Given the description of an element on the screen output the (x, y) to click on. 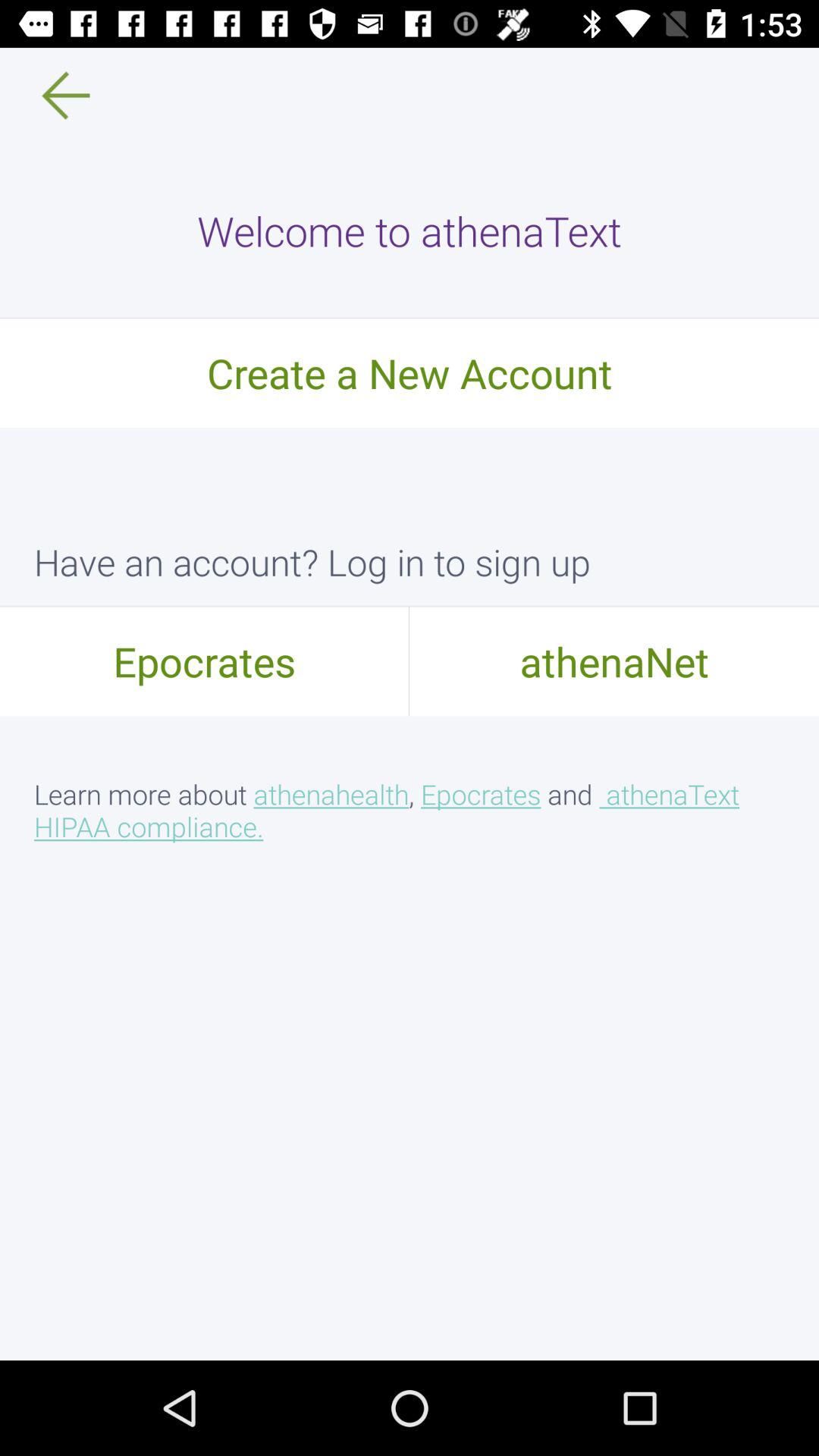
tap the icon below the welcome to athenatext icon (409, 372)
